Given the description of an element on the screen output the (x, y) to click on. 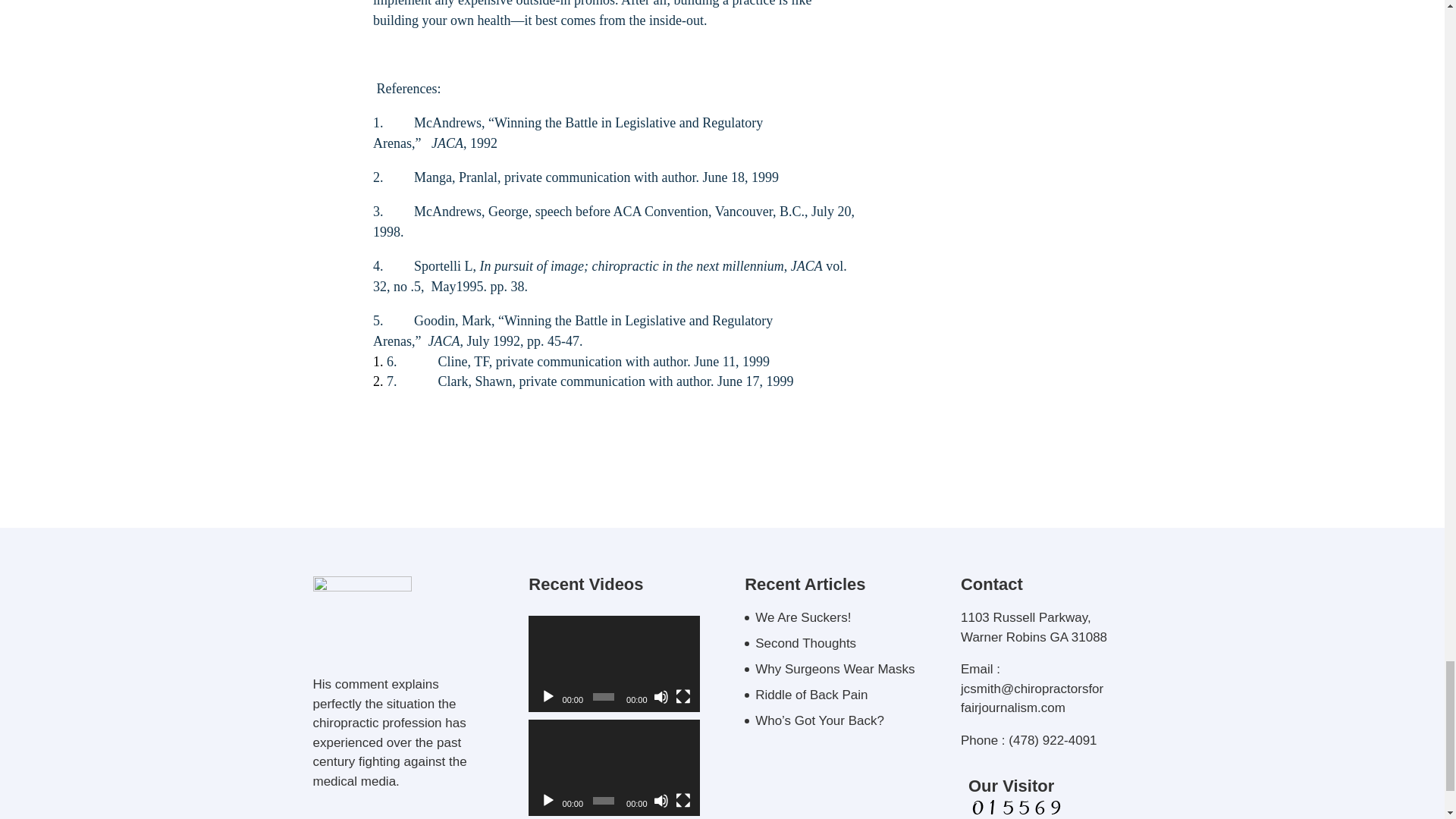
Mute (660, 800)
We Are Suckers! (802, 617)
Second Thoughts (805, 643)
Riddle of Back Pain (811, 694)
Fullscreen (682, 696)
Fullscreen (682, 800)
Play (548, 800)
Why Surgeons Wear Masks (834, 668)
Play (548, 696)
Mute (660, 696)
